Given the description of an element on the screen output the (x, y) to click on. 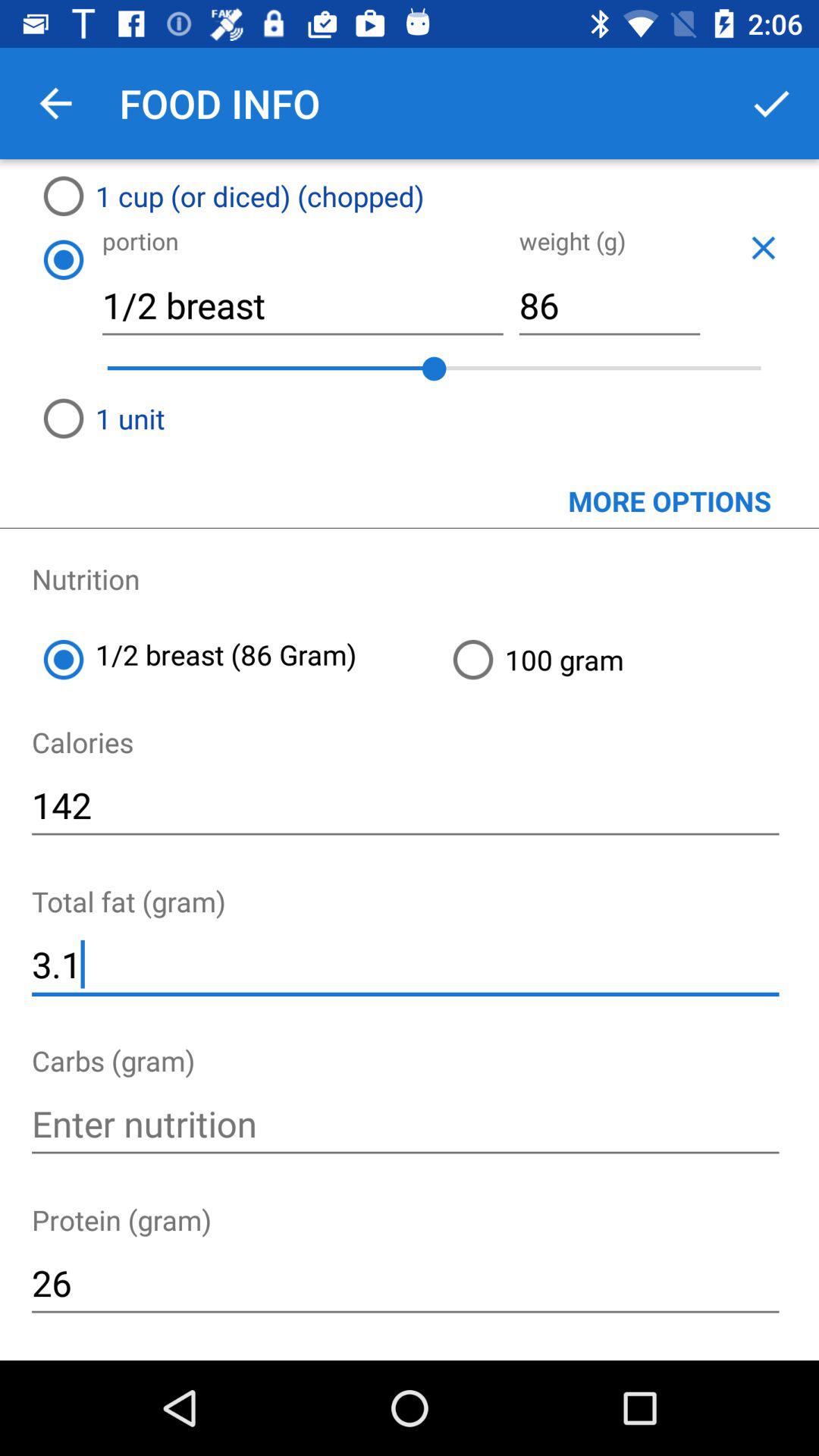
enter carbs value (405, 1124)
